Given the description of an element on the screen output the (x, y) to click on. 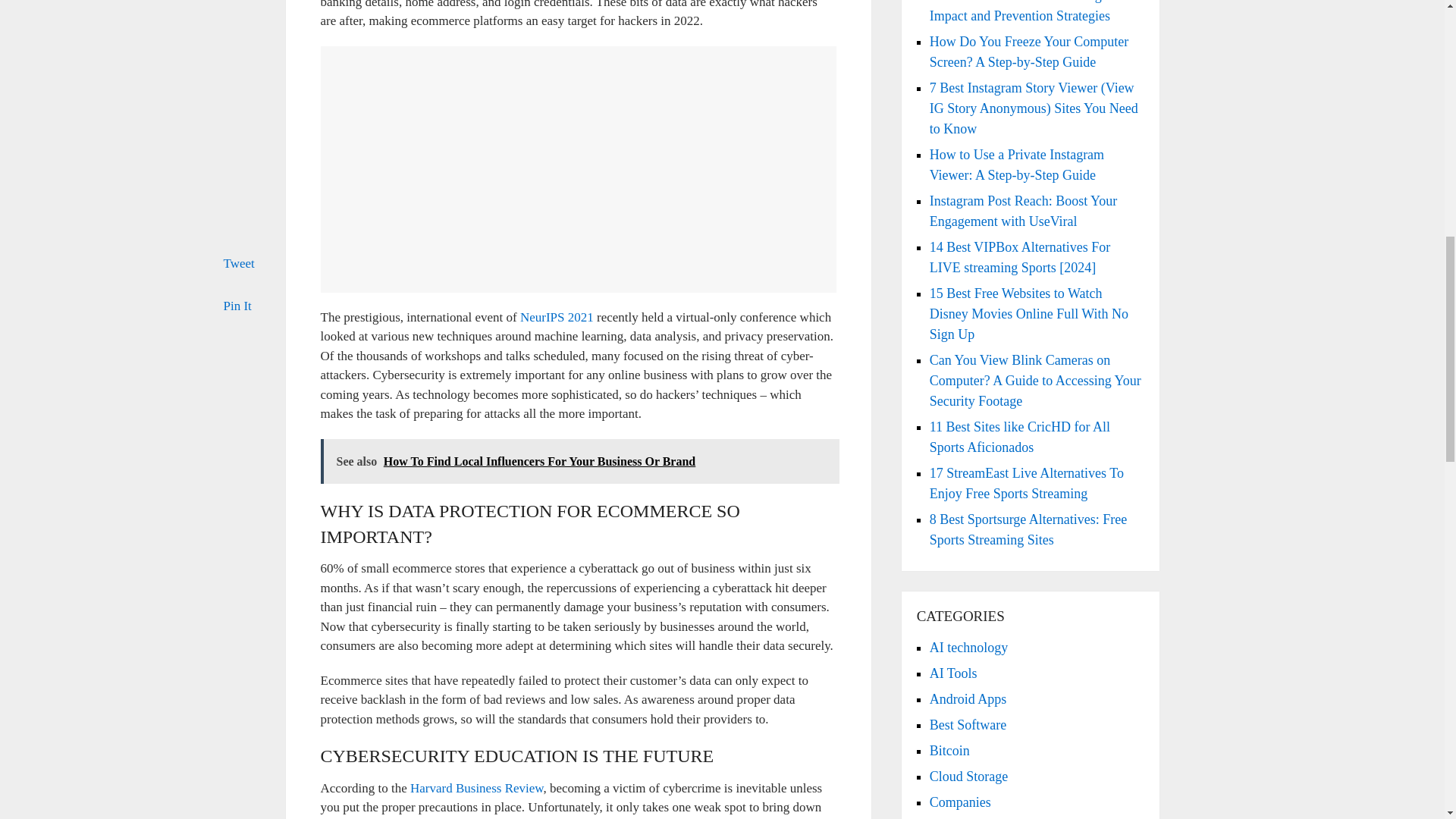
NeurIPS 2021 (556, 317)
 Harvard Business Review (475, 788)
